Given the description of an element on the screen output the (x, y) to click on. 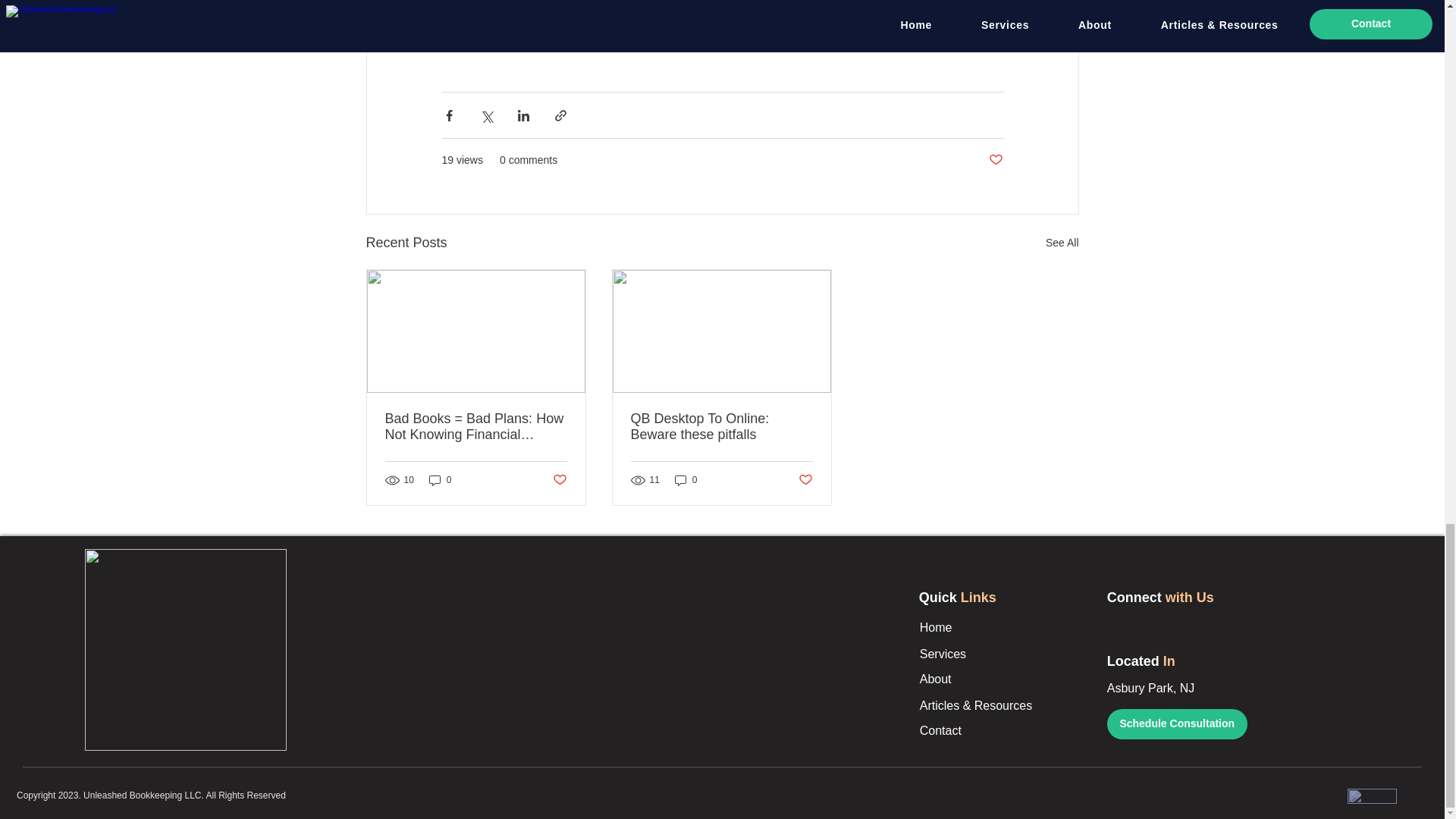
Services (943, 653)
Contact (940, 730)
Post not marked as liked (995, 160)
Post not marked as liked (804, 480)
10-UxTree-logo-png-horizontal-white.png (1372, 795)
Asbury Park, NJ (1150, 687)
See All (1061, 242)
0 (440, 479)
Schedule Consultation (1176, 724)
Post not marked as liked (558, 480)
Home (936, 626)
QB Desktop To Online: Beware these pitfalls (721, 427)
0 (685, 479)
About (936, 678)
